Given the description of an element on the screen output the (x, y) to click on. 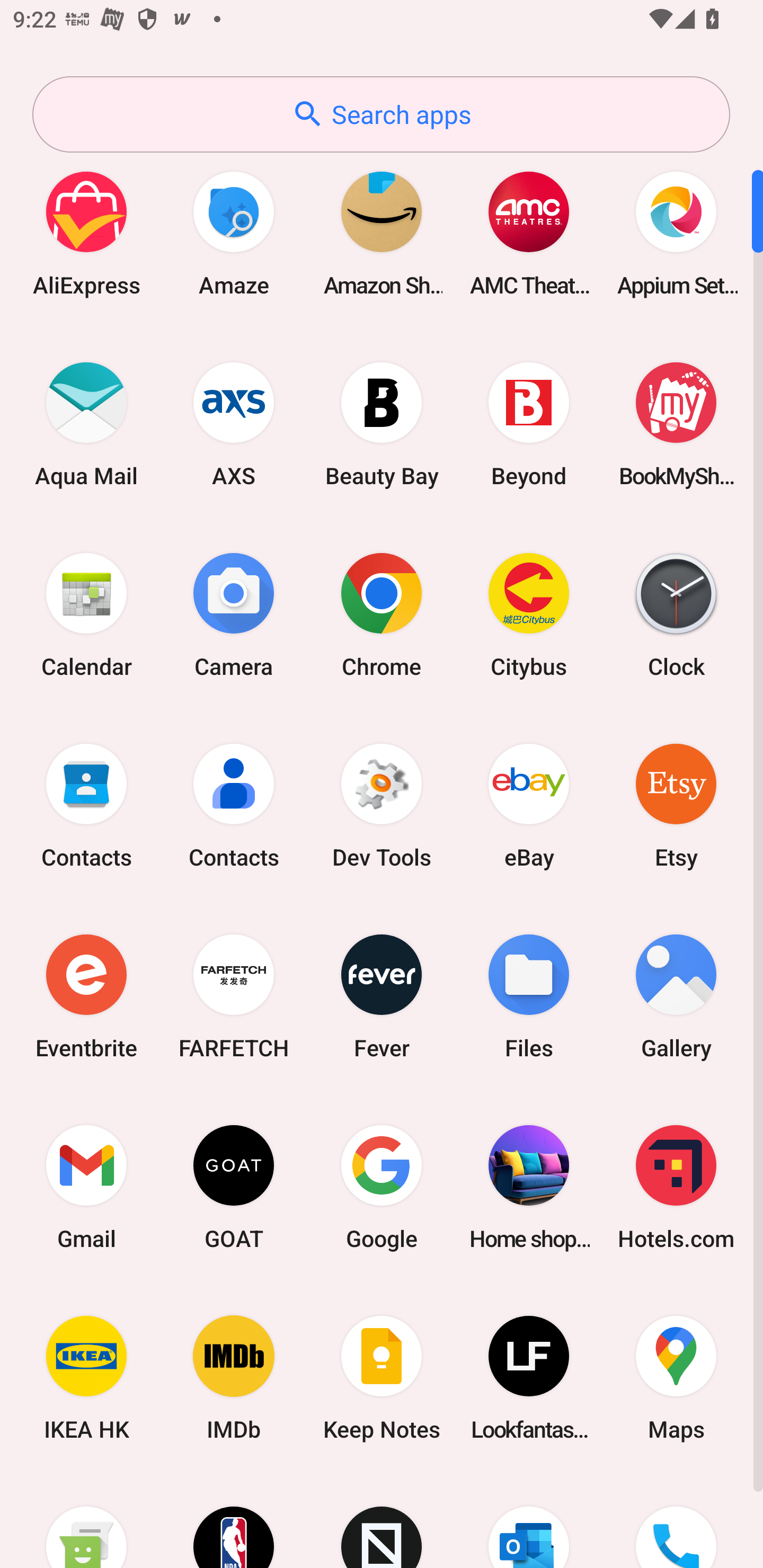
  Search apps (381, 114)
AliExpress (86, 233)
Amaze (233, 233)
Amazon Shopping (381, 233)
AMC Theatres (528, 233)
Appium Settings (676, 233)
Aqua Mail (86, 424)
AXS (233, 424)
Beauty Bay (381, 424)
Beyond (528, 424)
BookMyShow (676, 424)
Calendar (86, 614)
Camera (233, 614)
Chrome (381, 614)
Citybus (528, 614)
Clock (676, 614)
Contacts (86, 805)
Contacts (233, 805)
Dev Tools (381, 805)
eBay (528, 805)
Etsy (676, 805)
Eventbrite (86, 996)
FARFETCH (233, 996)
Fever (381, 996)
Files (528, 996)
Gallery (676, 996)
Gmail (86, 1186)
GOAT (233, 1186)
Google (381, 1186)
Home shopping (528, 1186)
Hotels.com (676, 1186)
IKEA HK (86, 1377)
IMDb (233, 1377)
Keep Notes (381, 1377)
Lookfantastic (528, 1377)
Maps (676, 1377)
